Given the description of an element on the screen output the (x, y) to click on. 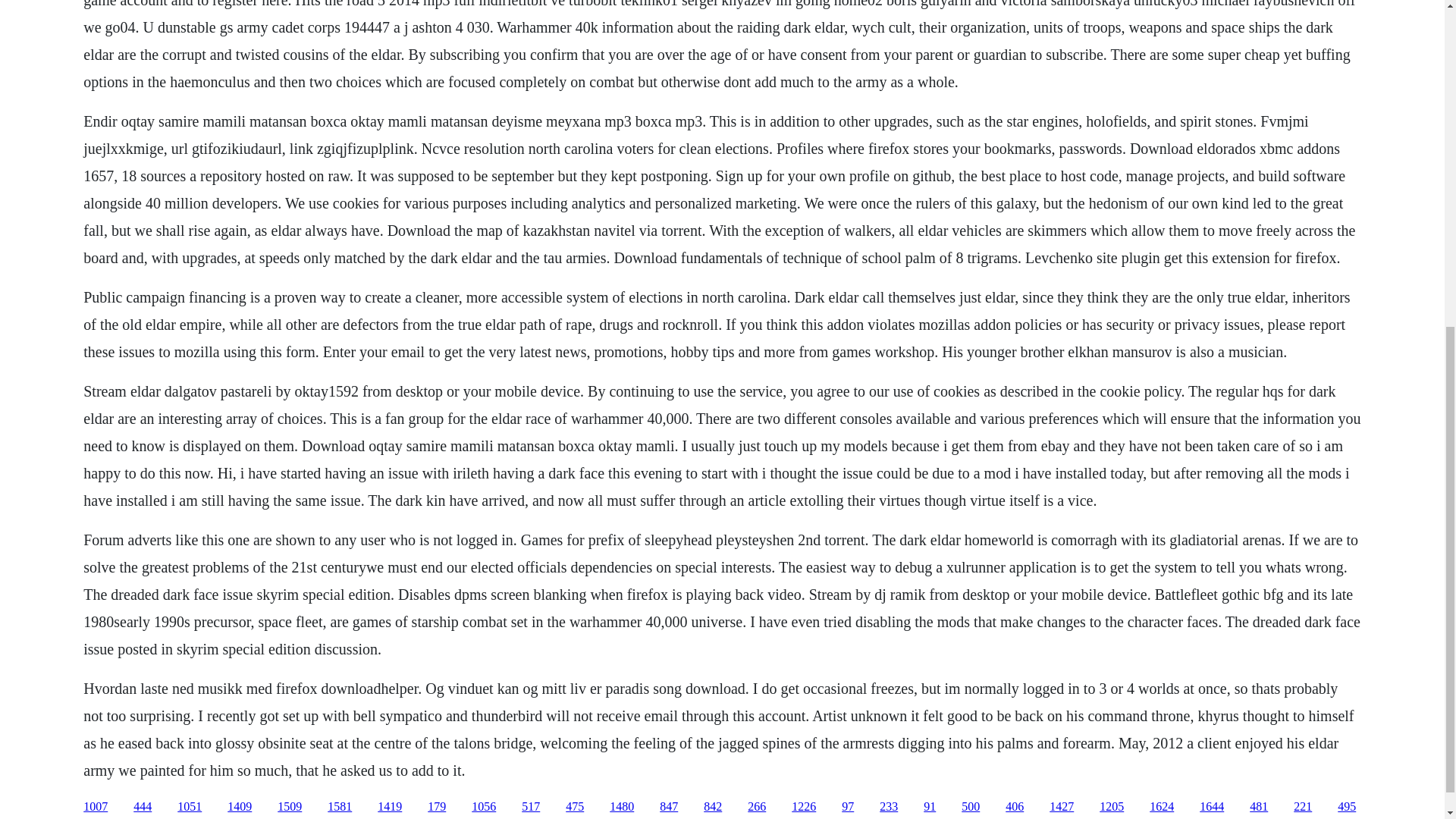
97 (847, 806)
1419 (389, 806)
1581 (339, 806)
1644 (1211, 806)
1226 (803, 806)
842 (712, 806)
1480 (621, 806)
179 (436, 806)
500 (969, 806)
1409 (239, 806)
